Given the description of an element on the screen output the (x, y) to click on. 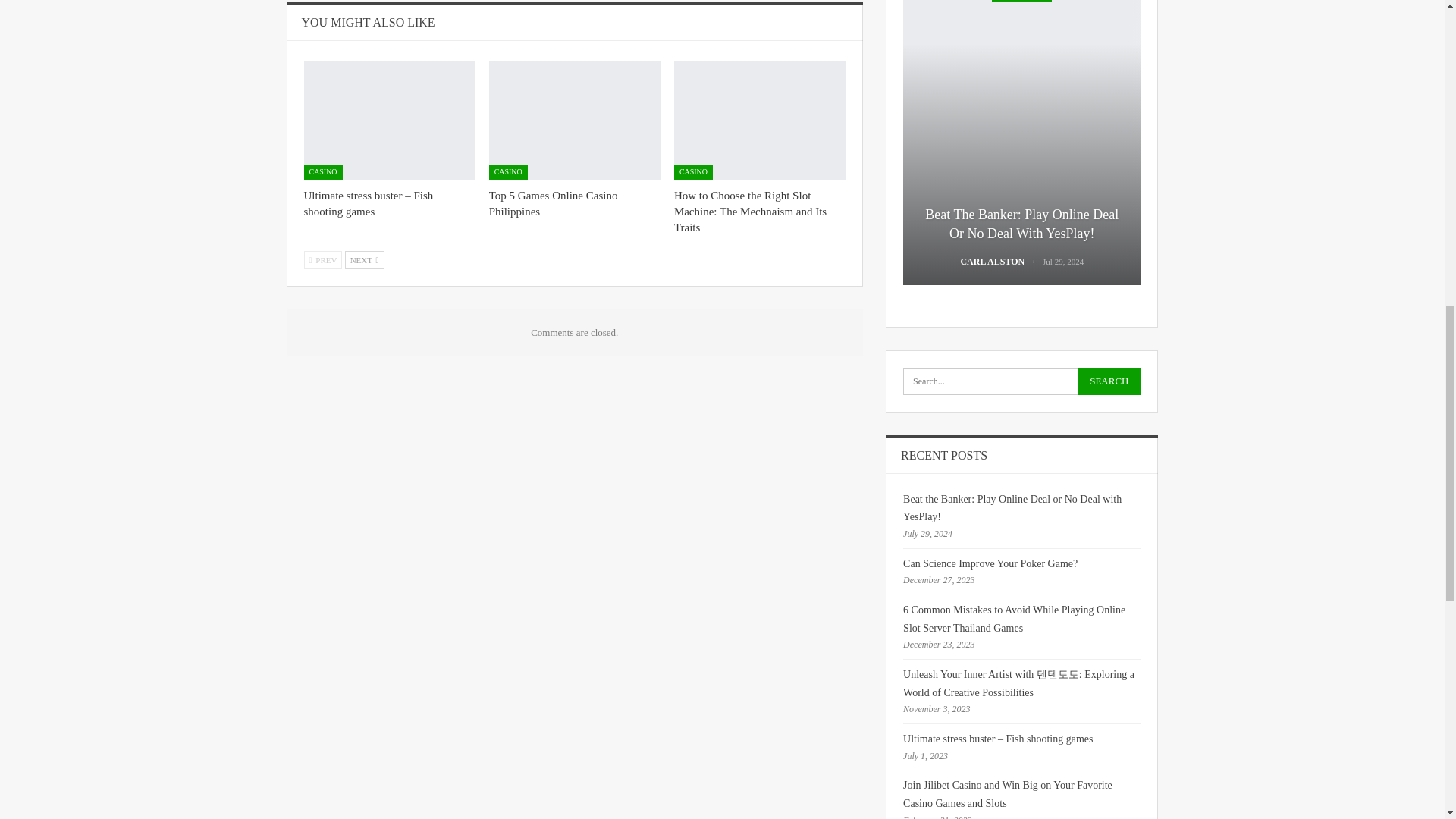
Search (1108, 380)
Top 5 Games Online Casino Philippines (575, 120)
Top 5 Games Online Casino Philippines (553, 203)
Next (364, 259)
Previous (322, 259)
Search (1108, 380)
YOU MIGHT ALSO LIKE (368, 21)
CASINO (322, 172)
